Given the description of an element on the screen output the (x, y) to click on. 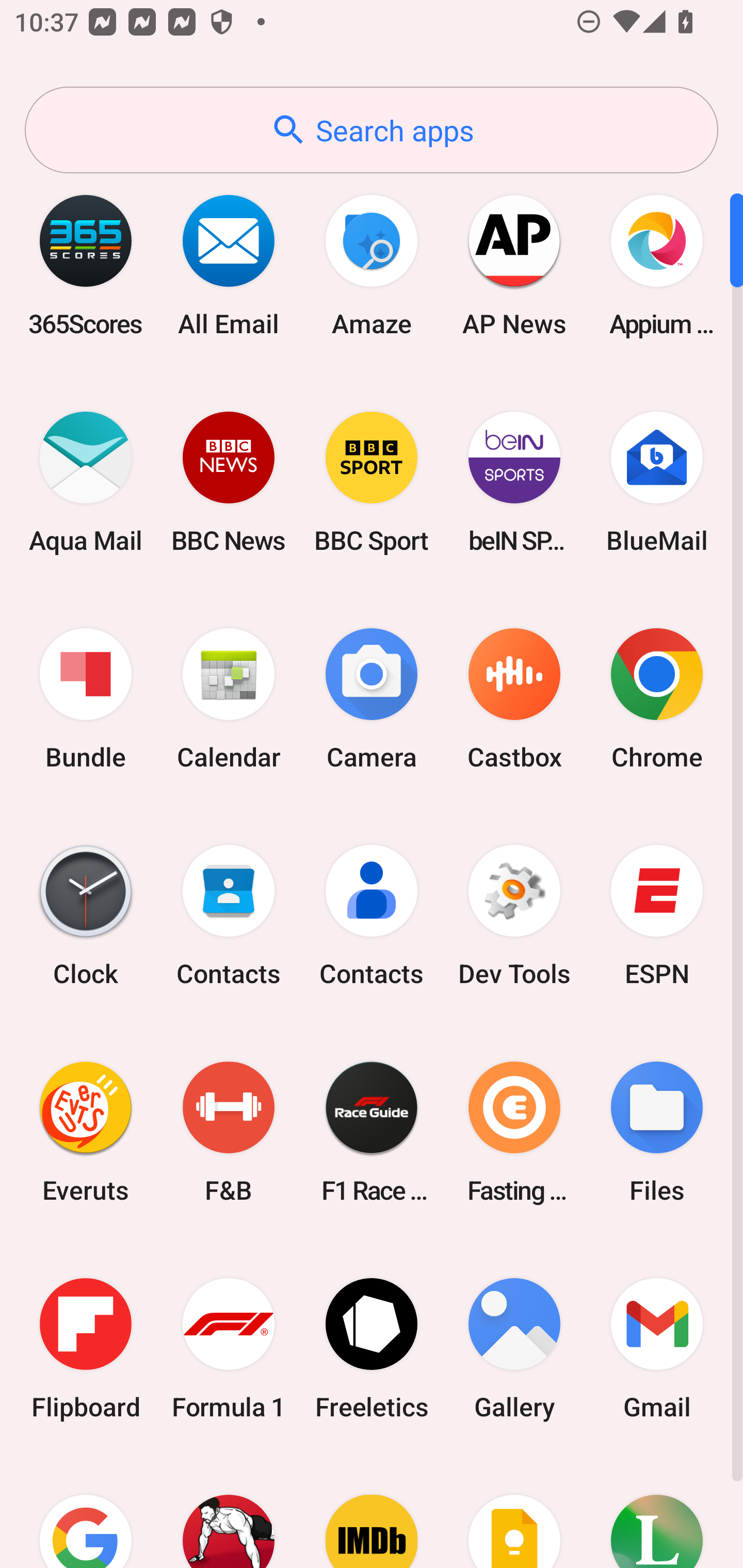
  Search apps (371, 130)
365Scores (85, 264)
All Email (228, 264)
Amaze (371, 264)
AP News (514, 264)
Appium Settings (656, 264)
Aqua Mail (85, 482)
BBC News (228, 482)
BBC Sport (371, 482)
beIN SPORTS (514, 482)
BlueMail (656, 482)
Bundle (85, 699)
Calendar (228, 699)
Camera (371, 699)
Castbox (514, 699)
Chrome (656, 699)
Clock (85, 915)
Contacts (228, 915)
Contacts (371, 915)
Dev Tools (514, 915)
ESPN (656, 915)
Everuts (85, 1131)
F&B (228, 1131)
F1 Race Guide (371, 1131)
Fasting Coach (514, 1131)
Files (656, 1131)
Flipboard (85, 1348)
Formula 1 (228, 1348)
Freeletics (371, 1348)
Gallery (514, 1348)
Gmail (656, 1348)
Google (85, 1512)
Home Workout (228, 1512)
IMDb (371, 1512)
Keep Notes (514, 1512)
Lifesum (656, 1512)
